Given the description of an element on the screen output the (x, y) to click on. 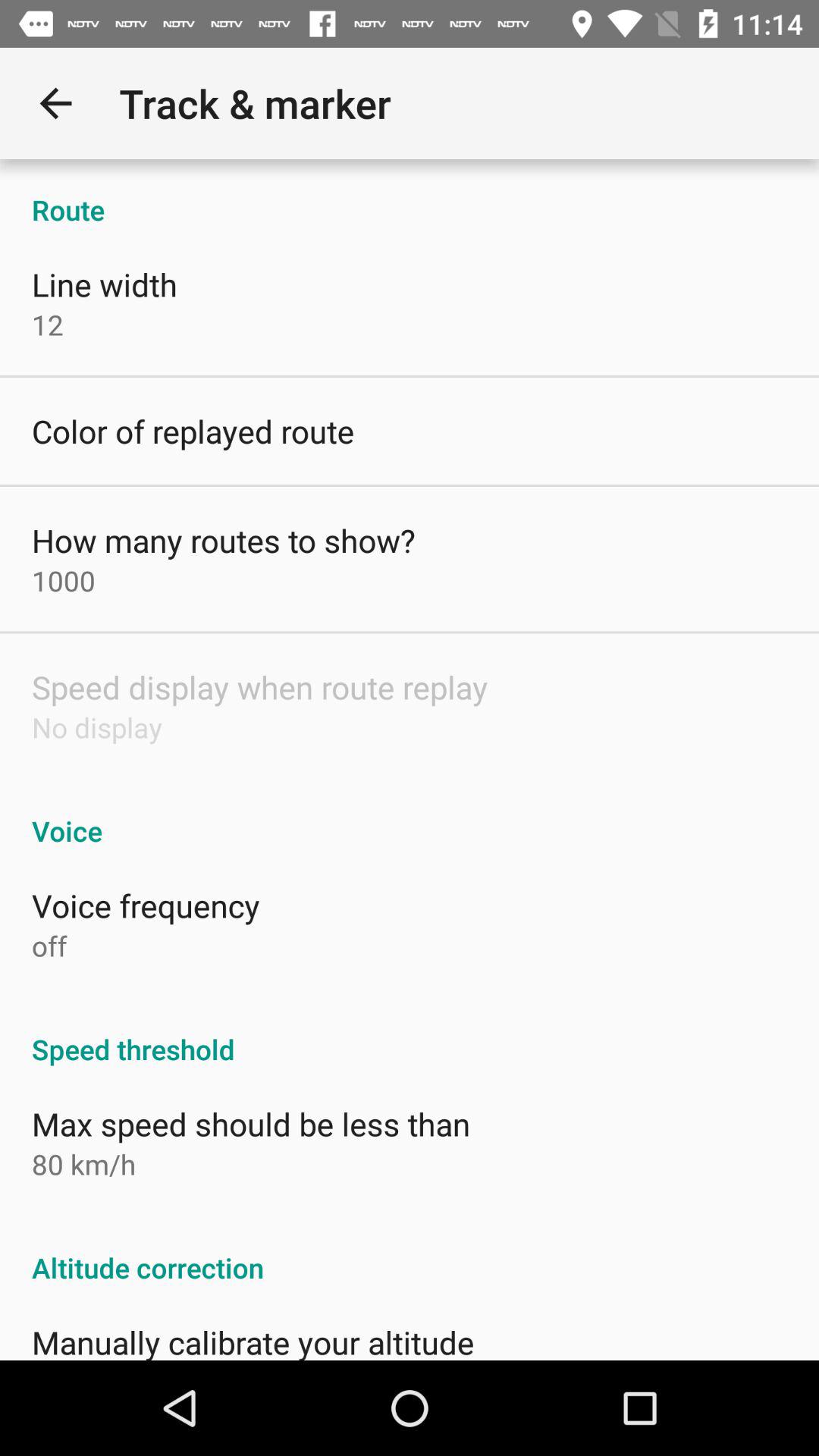
press altitude correction (409, 1251)
